Given the description of an element on the screen output the (x, y) to click on. 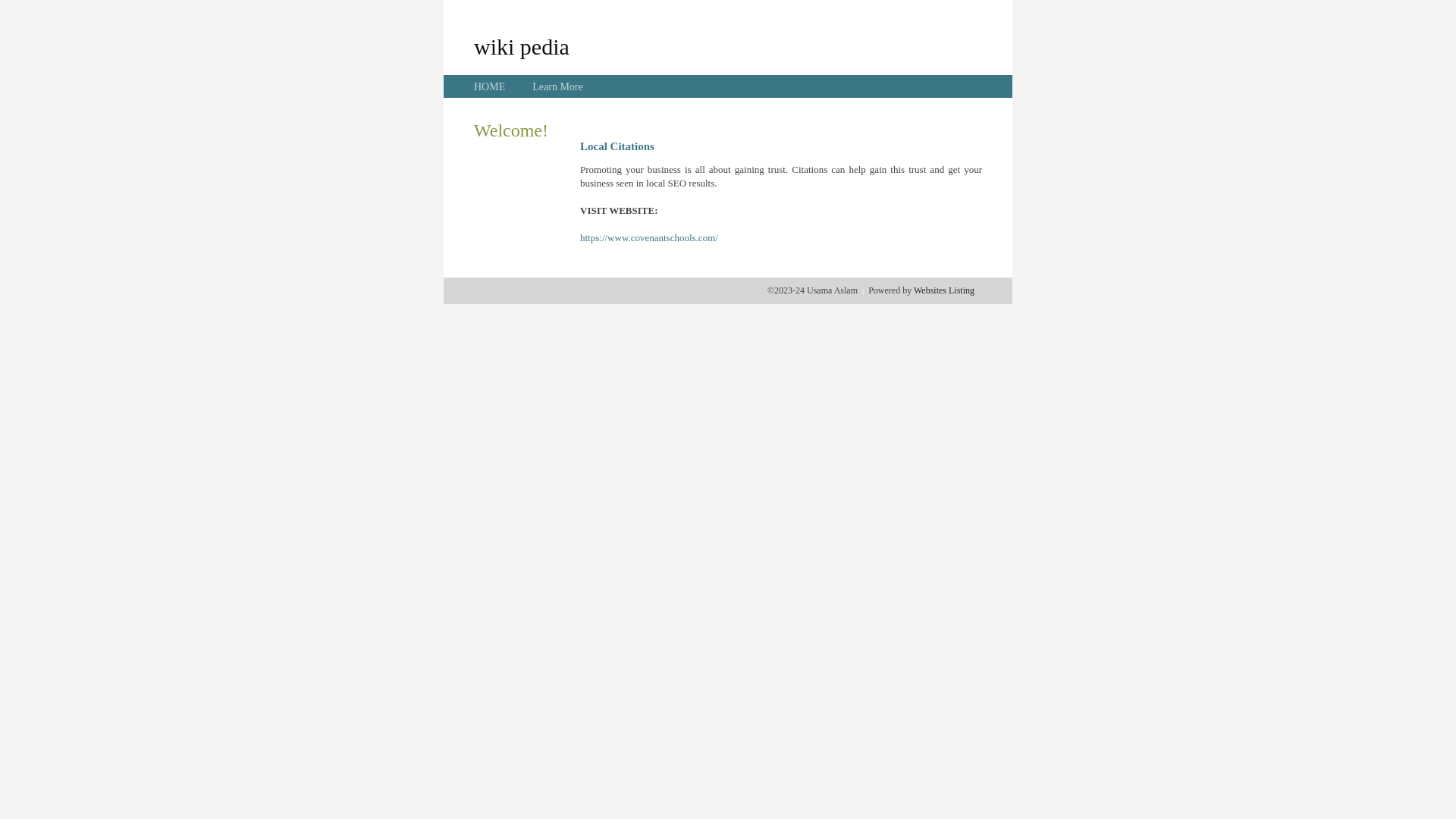
wiki pedia Element type: text (521, 46)
Websites Listing Element type: text (943, 290)
https://www.covenantschools.com/ Element type: text (649, 237)
Learn More Element type: text (557, 86)
HOME Element type: text (489, 86)
